Given the description of an element on the screen output the (x, y) to click on. 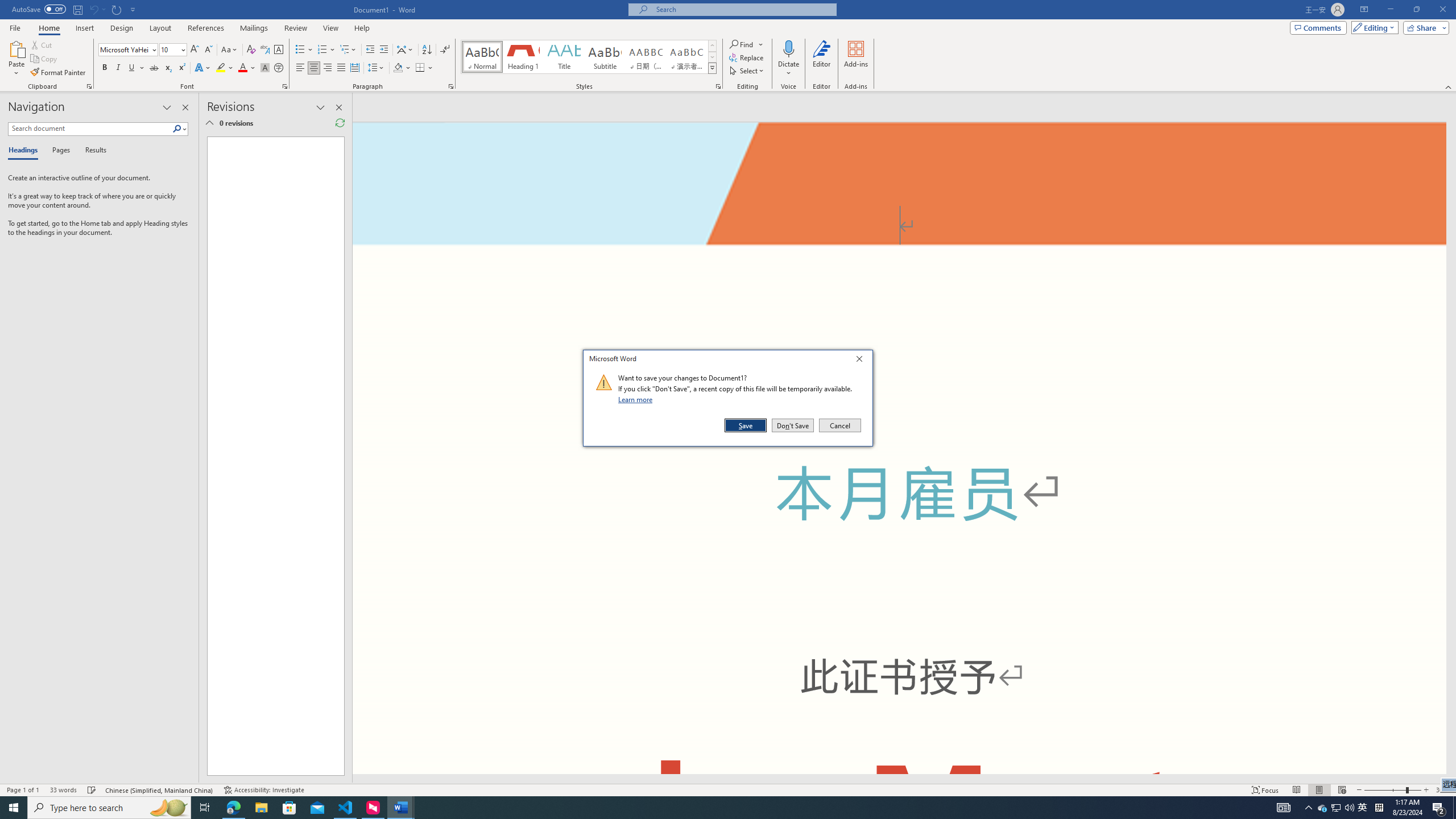
Can't Undo (96, 9)
Class: MsoCommandBar (728, 789)
Clear Formatting (250, 49)
Multilevel List (347, 49)
Cancel (839, 425)
